Given the description of an element on the screen output the (x, y) to click on. 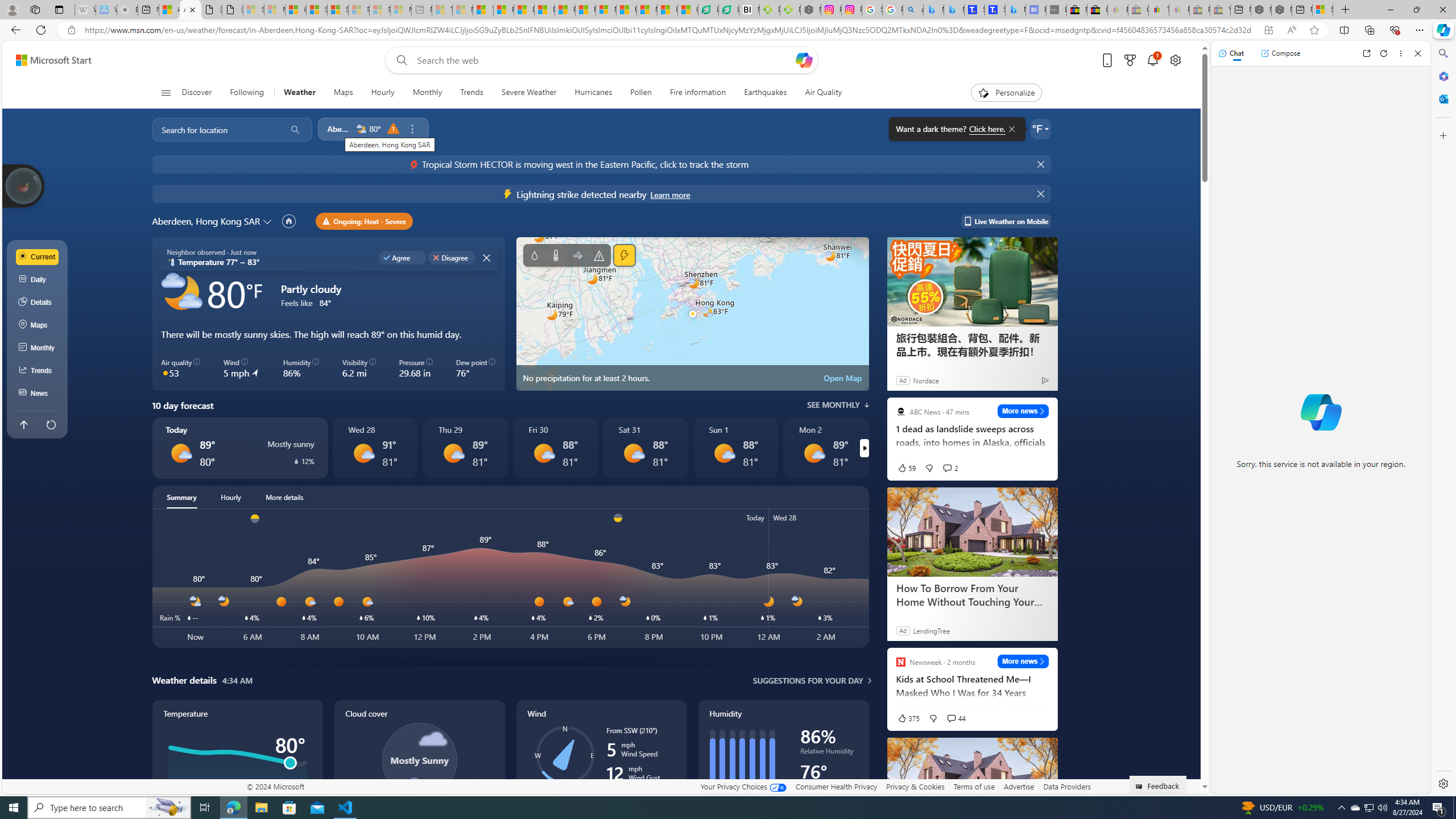
Precipitation (534, 254)
Web search (398, 60)
static map image of vector map (692, 313)
Current (37, 256)
Change location (268, 220)
Microsoft account | Account Checkup - Sleeping (400, 9)
Air quality 53 (180, 368)
Daily (37, 279)
Relative Humidity (828, 753)
